Given the description of an element on the screen output the (x, y) to click on. 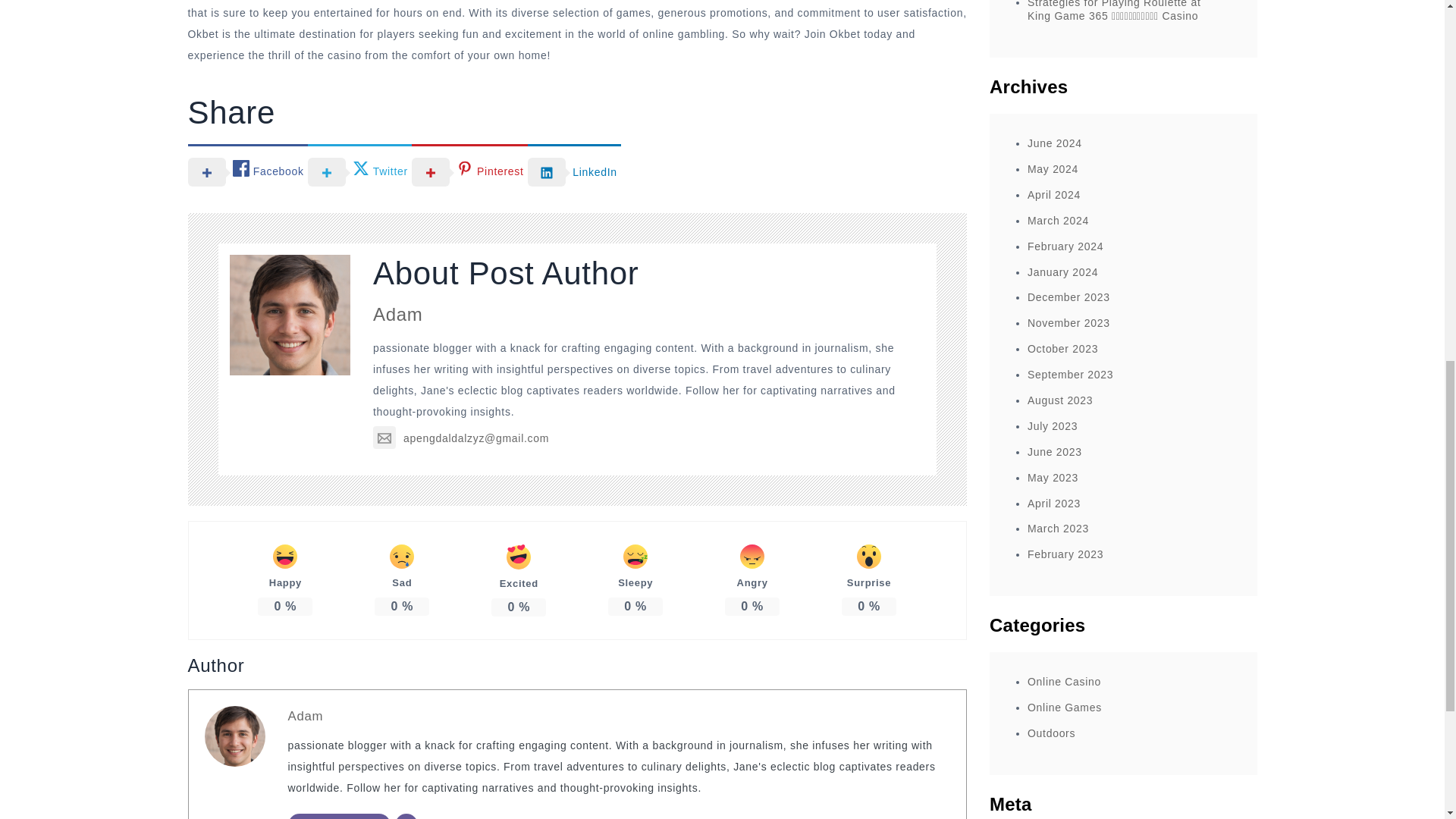
Facebook (247, 171)
Pinterest (469, 171)
View all posts (339, 816)
Adam (305, 716)
View all posts (339, 816)
Adam (397, 313)
Adam (305, 716)
Twitter (359, 171)
LinkedIn (574, 171)
